Given the description of an element on the screen output the (x, y) to click on. 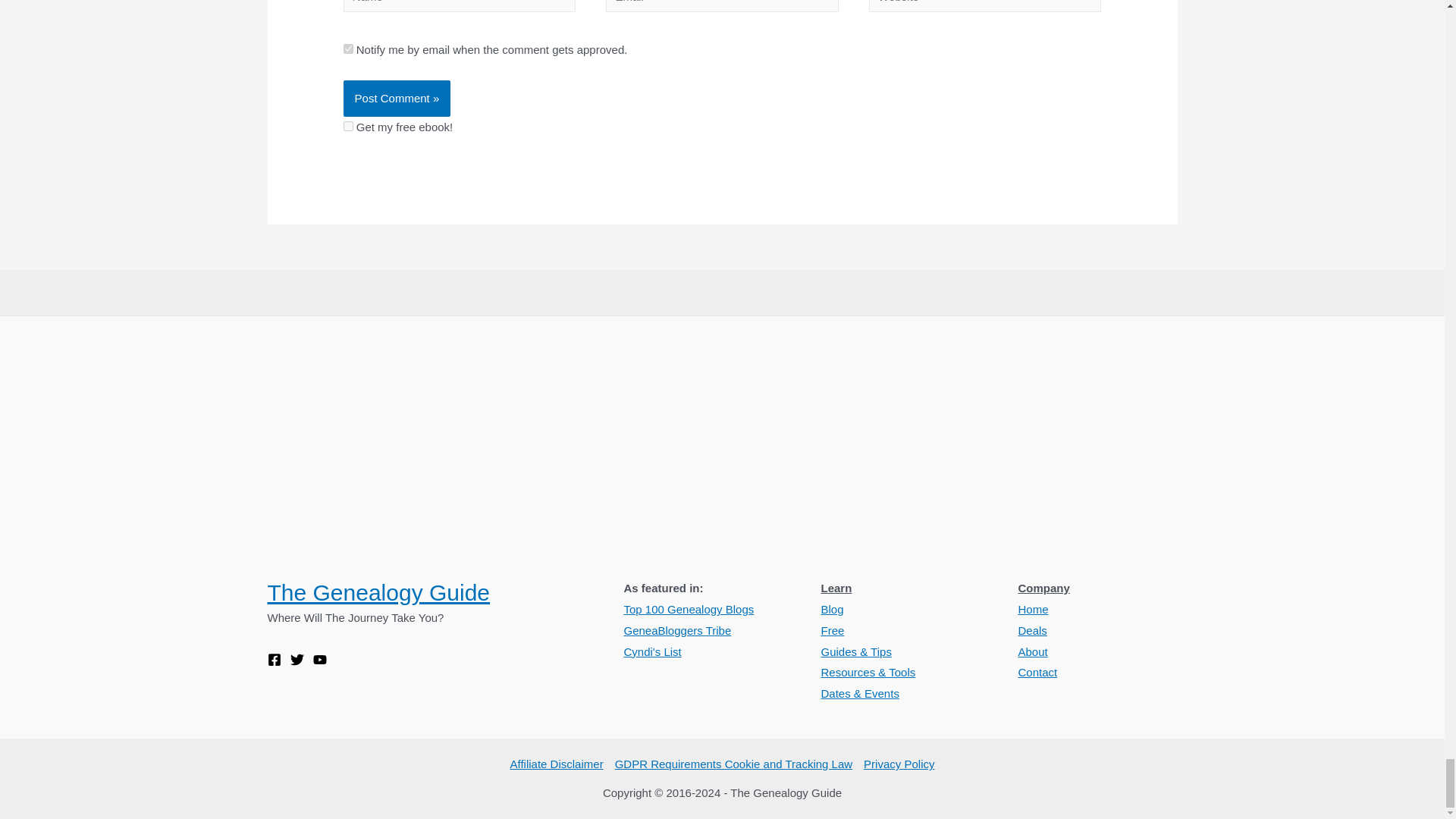
1 (348, 49)
1 (348, 126)
